Given the description of an element on the screen output the (x, y) to click on. 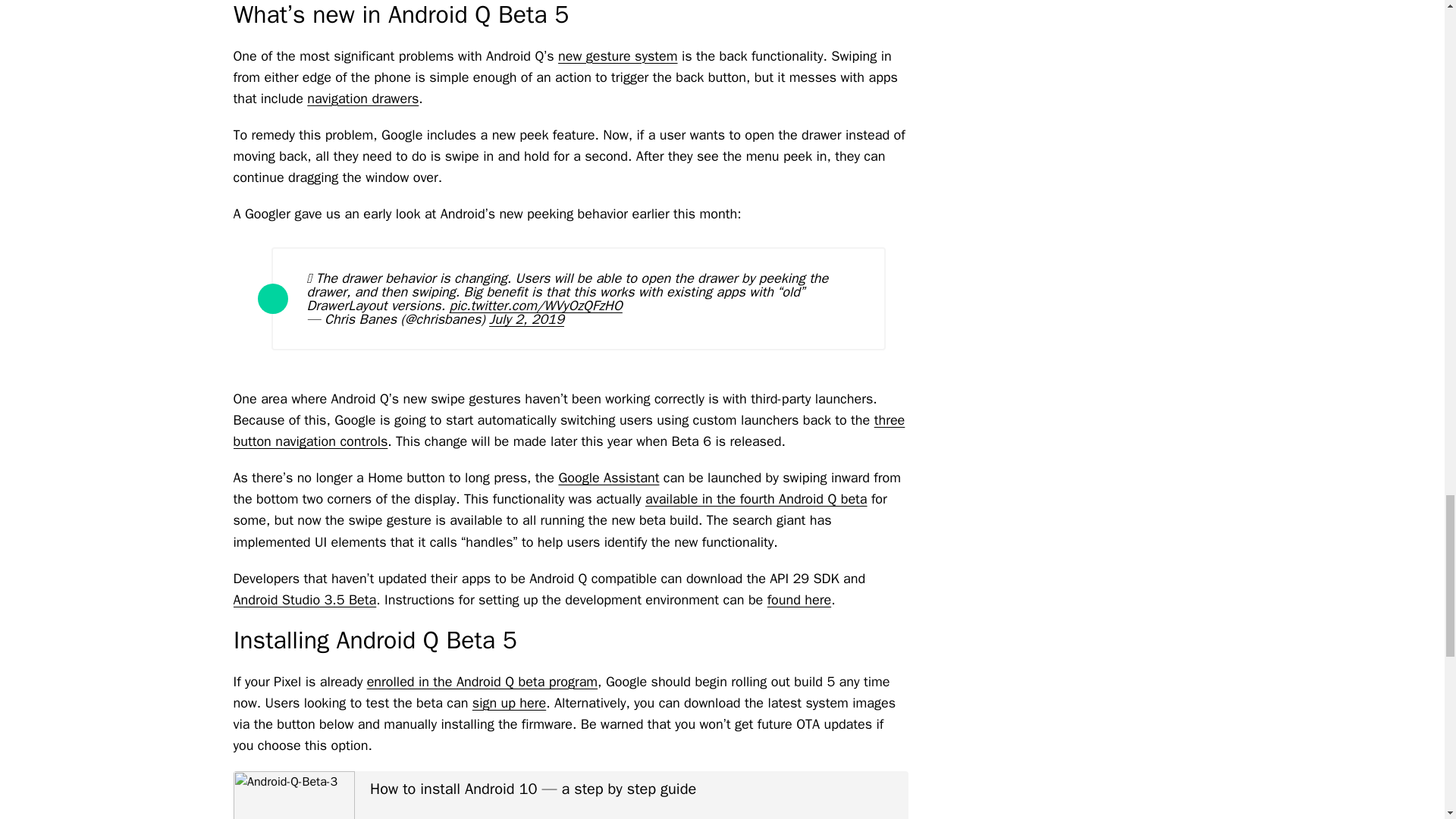
navigation drawers (363, 98)
Google Assistant (608, 477)
July 2, 2019 (526, 319)
sign up here (508, 702)
Android Studio 3.5 Beta (304, 599)
found here (799, 599)
enrolled in the Android Q beta program (481, 681)
Android-Q-Beta-3 (293, 795)
new gesture system (617, 55)
available in the fourth Android Q beta (756, 498)
